Given the description of an element on the screen output the (x, y) to click on. 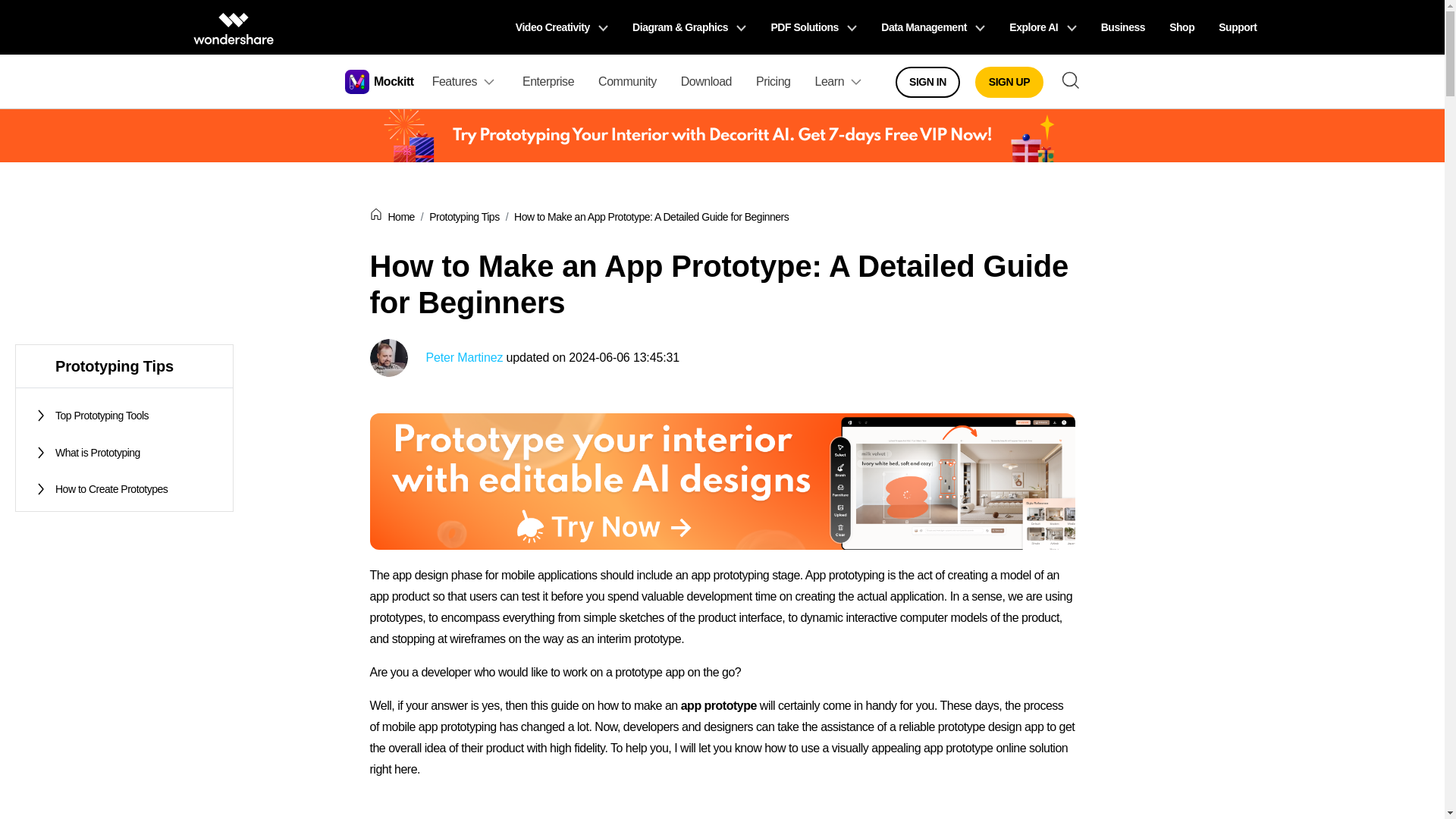
Data Management (933, 27)
Explore AI (1042, 27)
Business (1123, 27)
PDF Solutions (813, 27)
Video Creativity (561, 27)
